Given the description of an element on the screen output the (x, y) to click on. 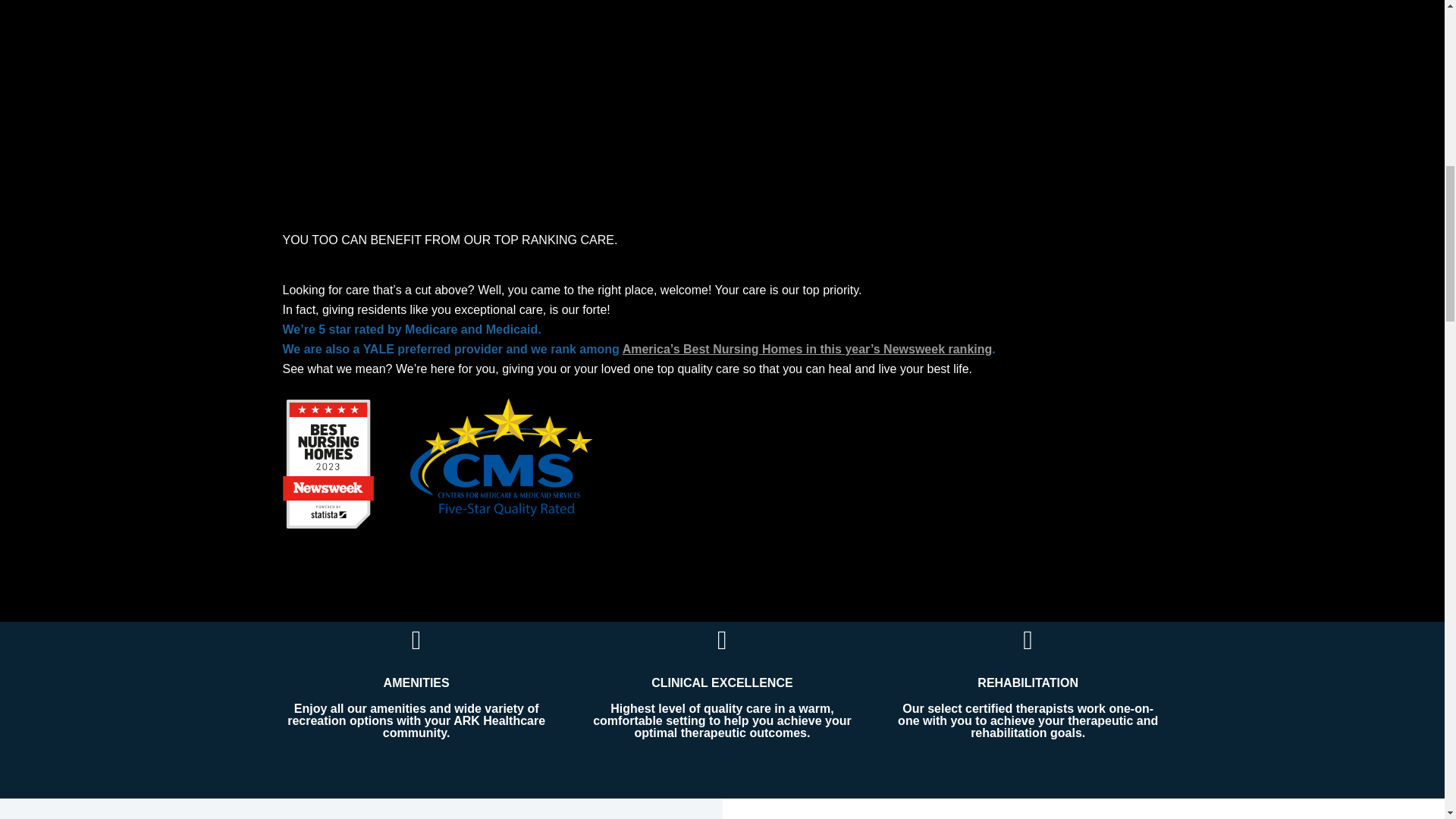
CLINICAL EXCELLENCE (721, 682)
AMENITIES (416, 682)
